Given the description of an element on the screen output the (x, y) to click on. 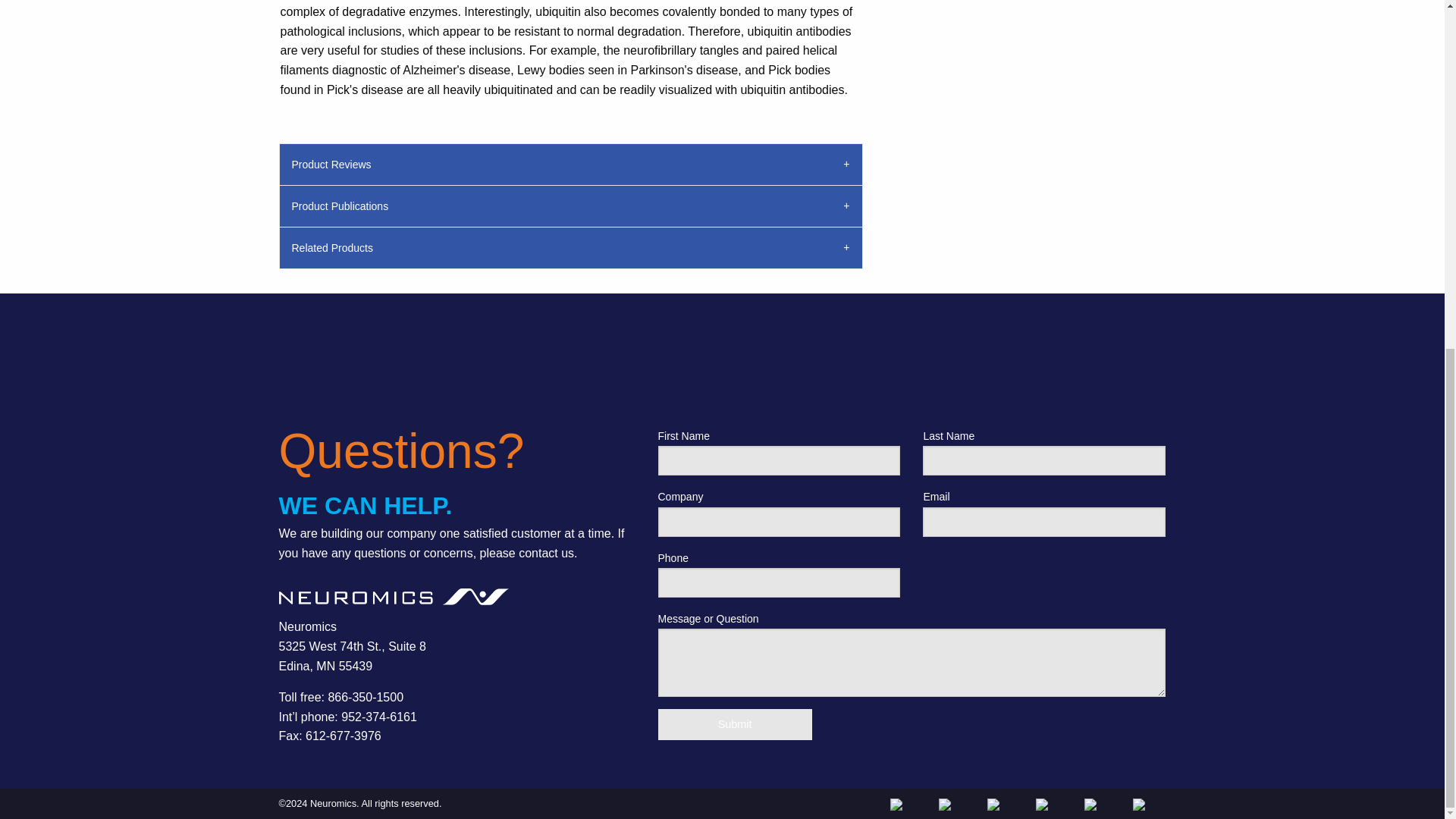
Submit (735, 724)
